Given the description of an element on the screen output the (x, y) to click on. 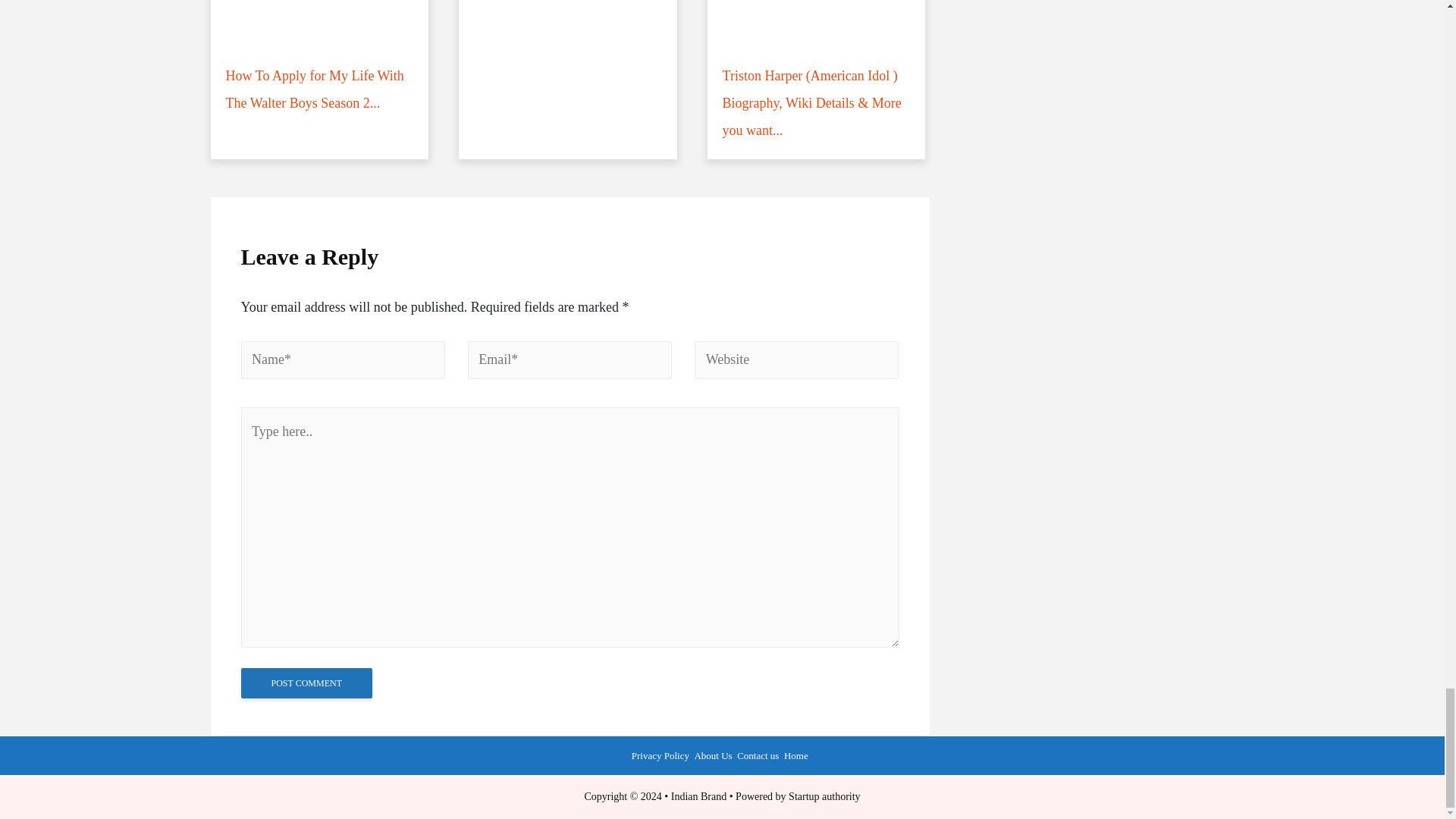
How to Apply for American Idol Auditions for 2025? (320, 79)
Post Comment (306, 683)
How To Apply for My Life With The Walter Boys Season 2... (567, 79)
How to Apply for American Idol Auditions for 2025? (320, 79)
Post Comment (306, 683)
